Given the description of an element on the screen output the (x, y) to click on. 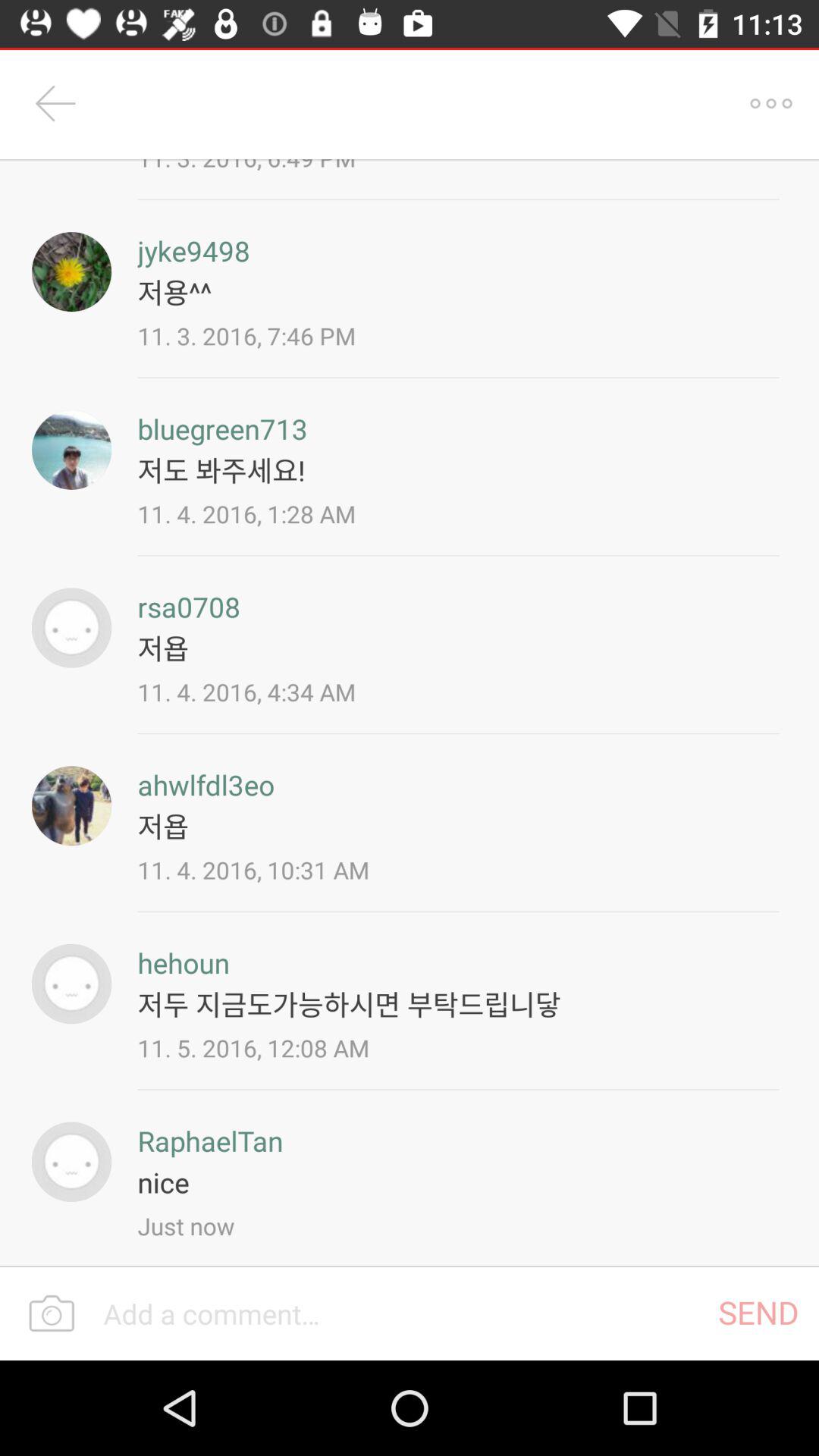
scroll to jyke9498 item (193, 250)
